Given the description of an element on the screen output the (x, y) to click on. 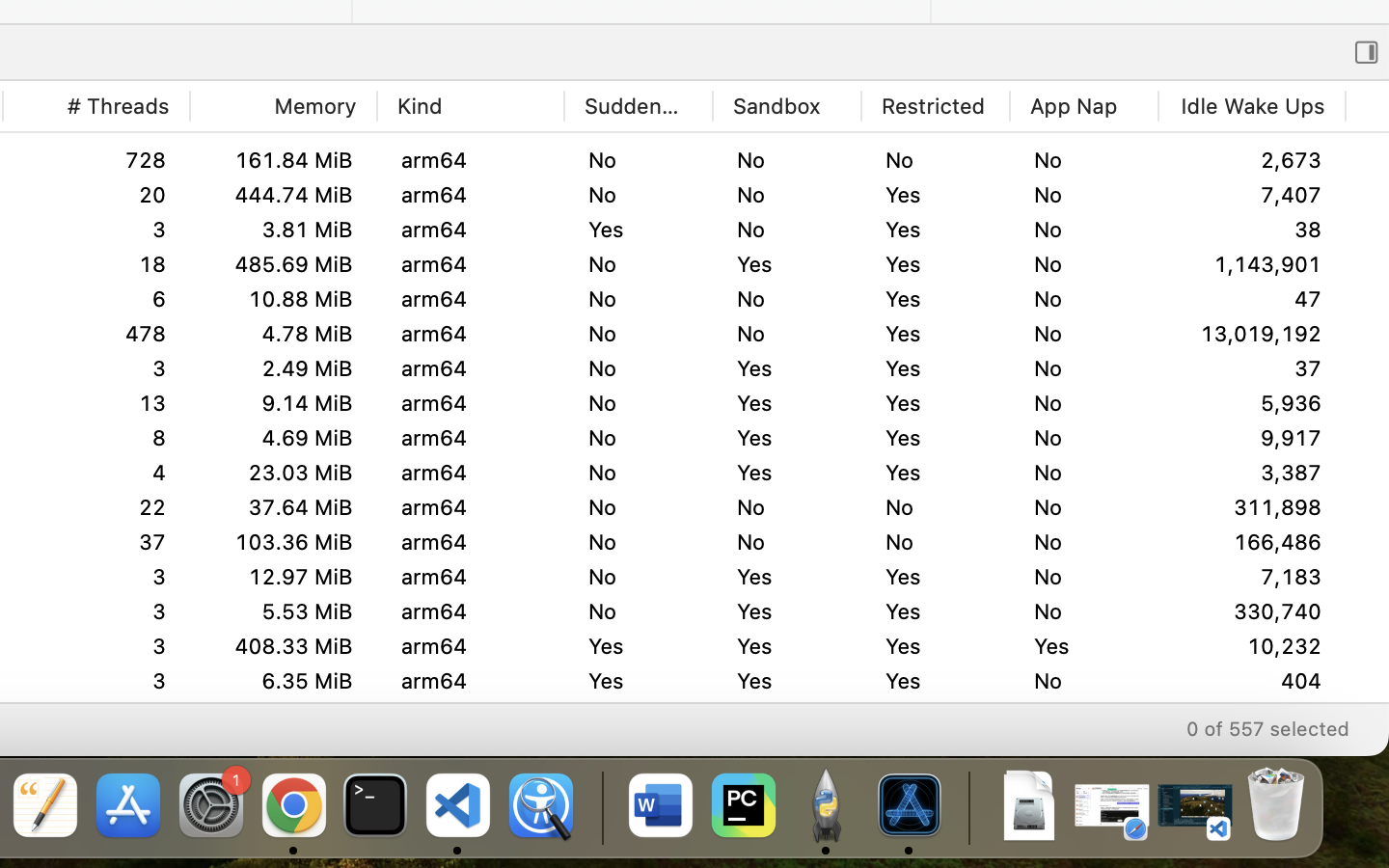
0 of 556 selected Element type: AXStaticText (1266, 727)
7 Element type: AXStaticText (96, 645)
13,746 Element type: AXStaticText (1251, 749)
2.55 MiB Element type: AXStaticText (283, 298)
5 Element type: AXStaticText (96, 437)
